Given the description of an element on the screen output the (x, y) to click on. 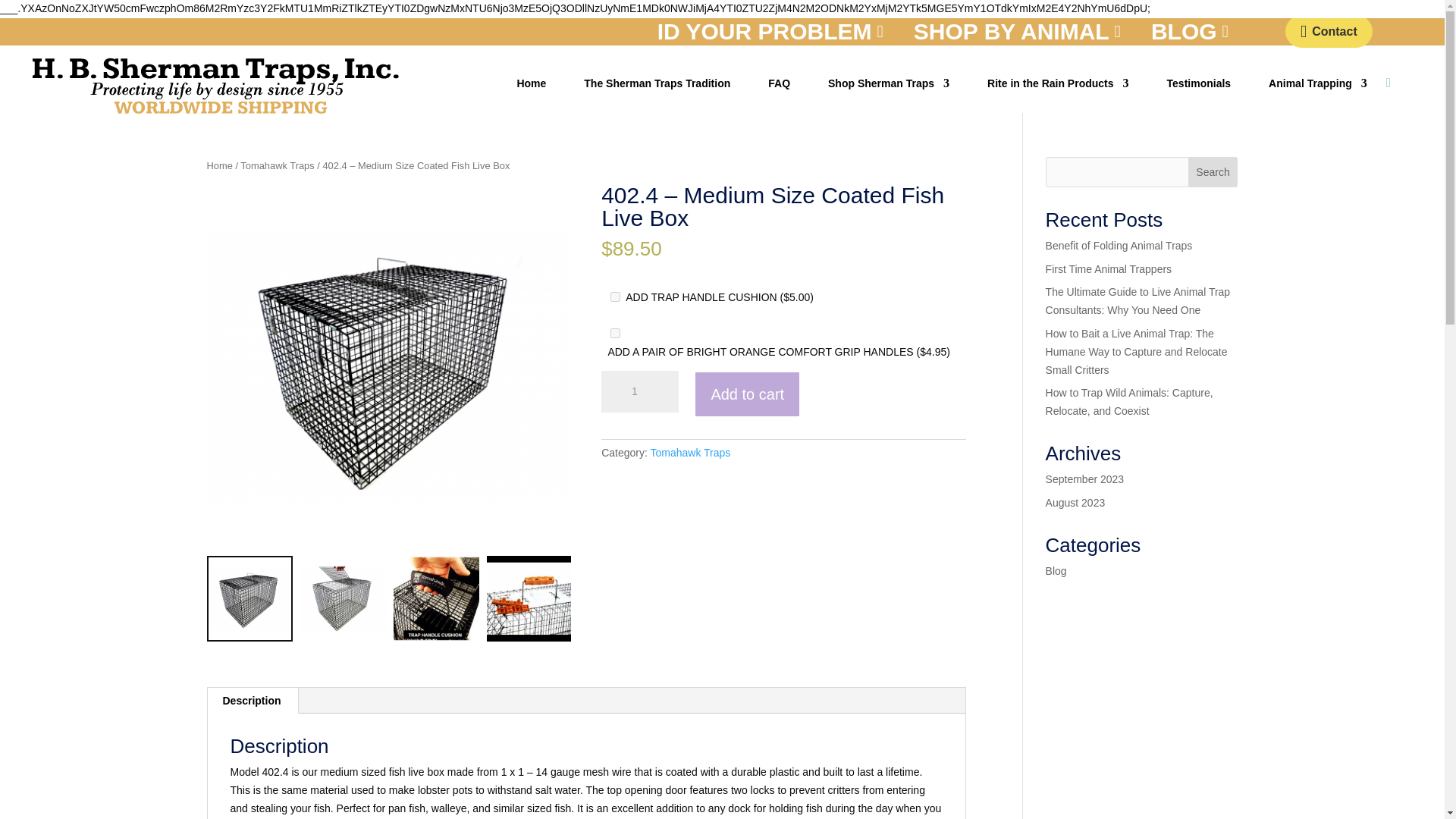
5.00 (615, 296)
4.95 (615, 333)
1 (639, 392)
402.4 (388, 365)
